Given the description of an element on the screen output the (x, y) to click on. 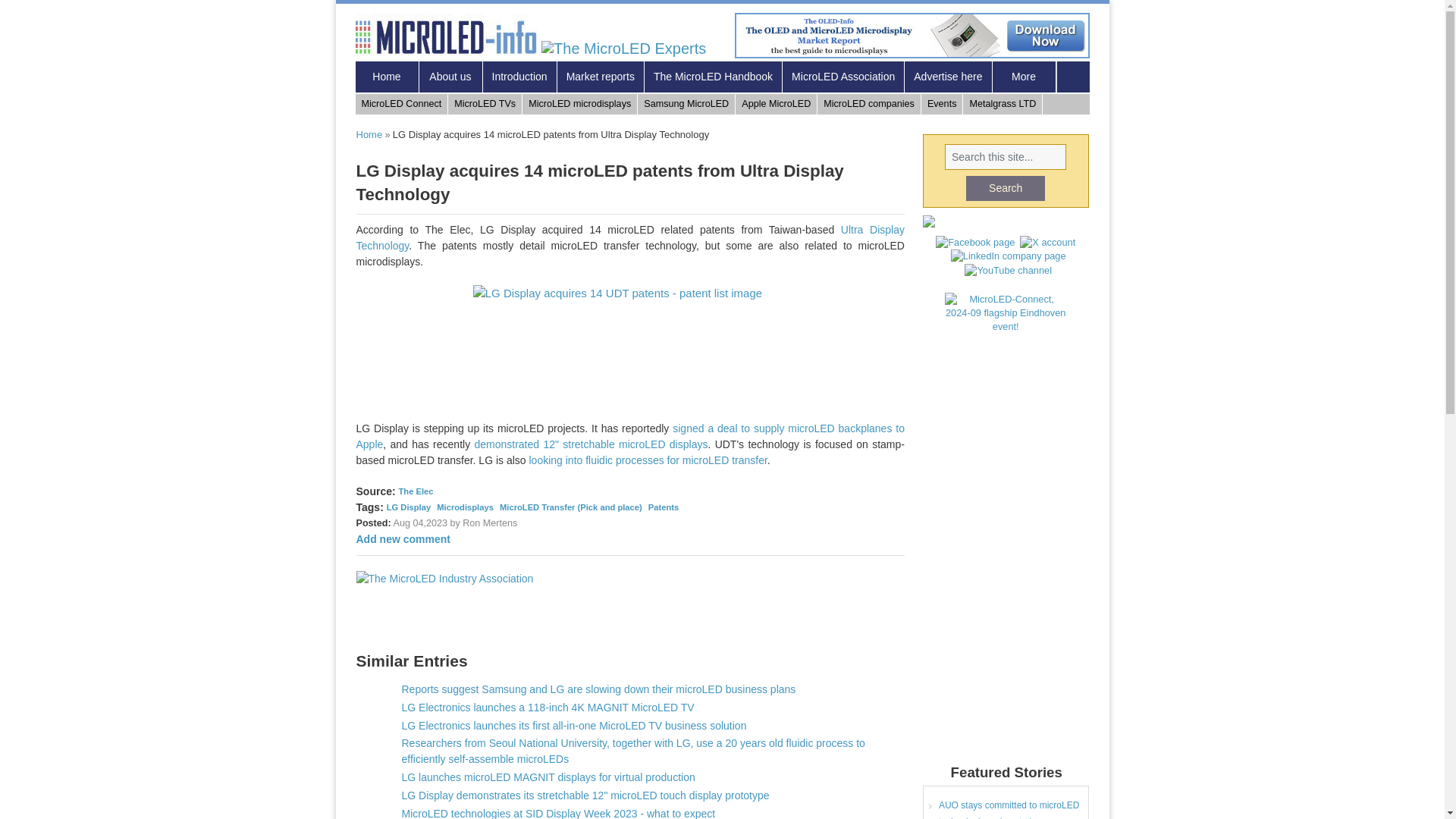
Enter the terms you wish to search for. (1004, 156)
Samsung MicroLED (686, 104)
signed a deal to supply microLED backplanes to Apple (630, 436)
MicroLED companies (868, 104)
Live microLED event in Europe, 2024 (401, 104)
About us (450, 76)
The Elec (415, 491)
Microdisplays (464, 506)
Apple MicroLED (775, 104)
Share your thoughts and opinions. (402, 539)
